Given the description of an element on the screen output the (x, y) to click on. 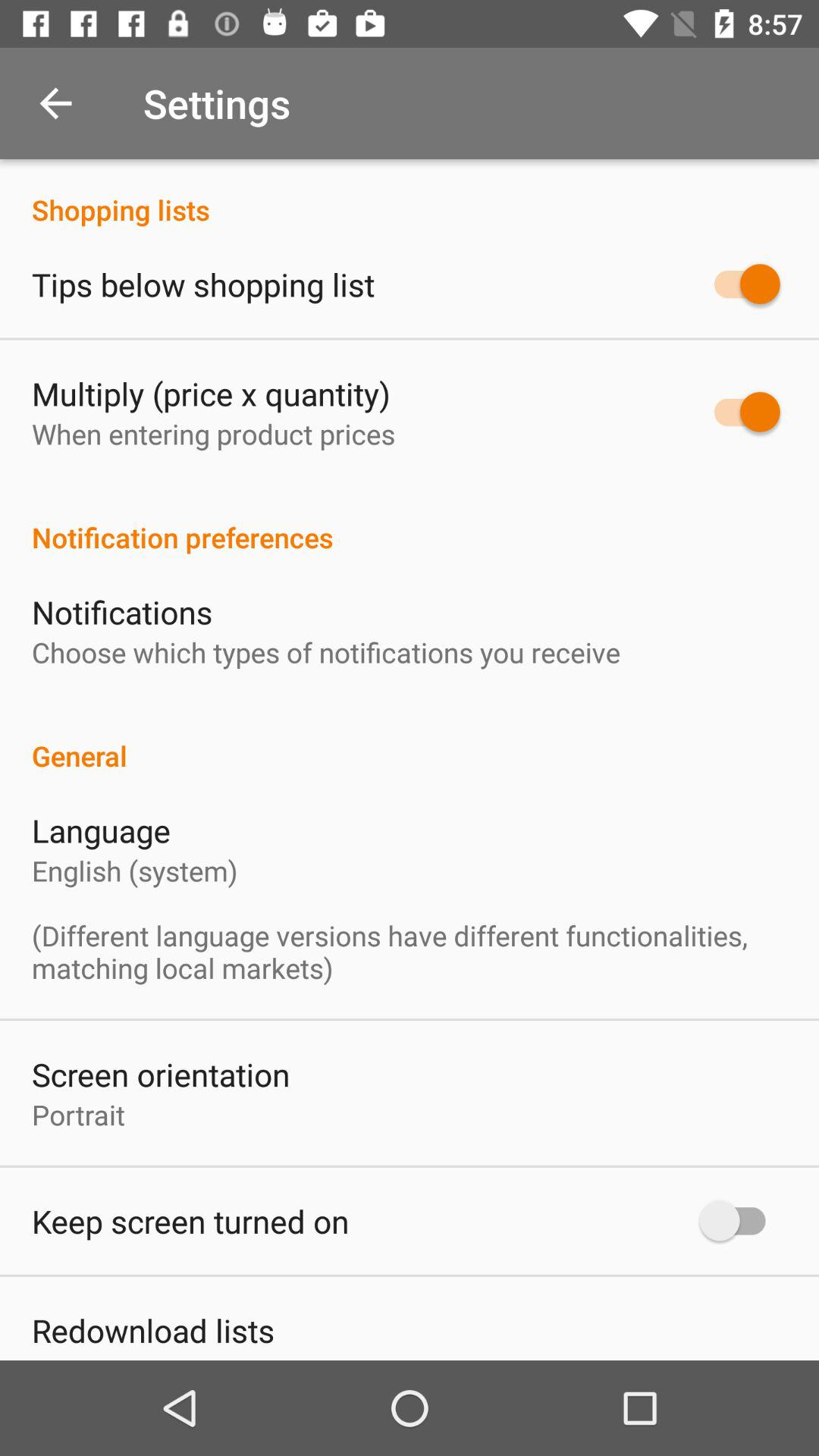
open icon below the screen orientation item (78, 1114)
